Given the description of an element on the screen output the (x, y) to click on. 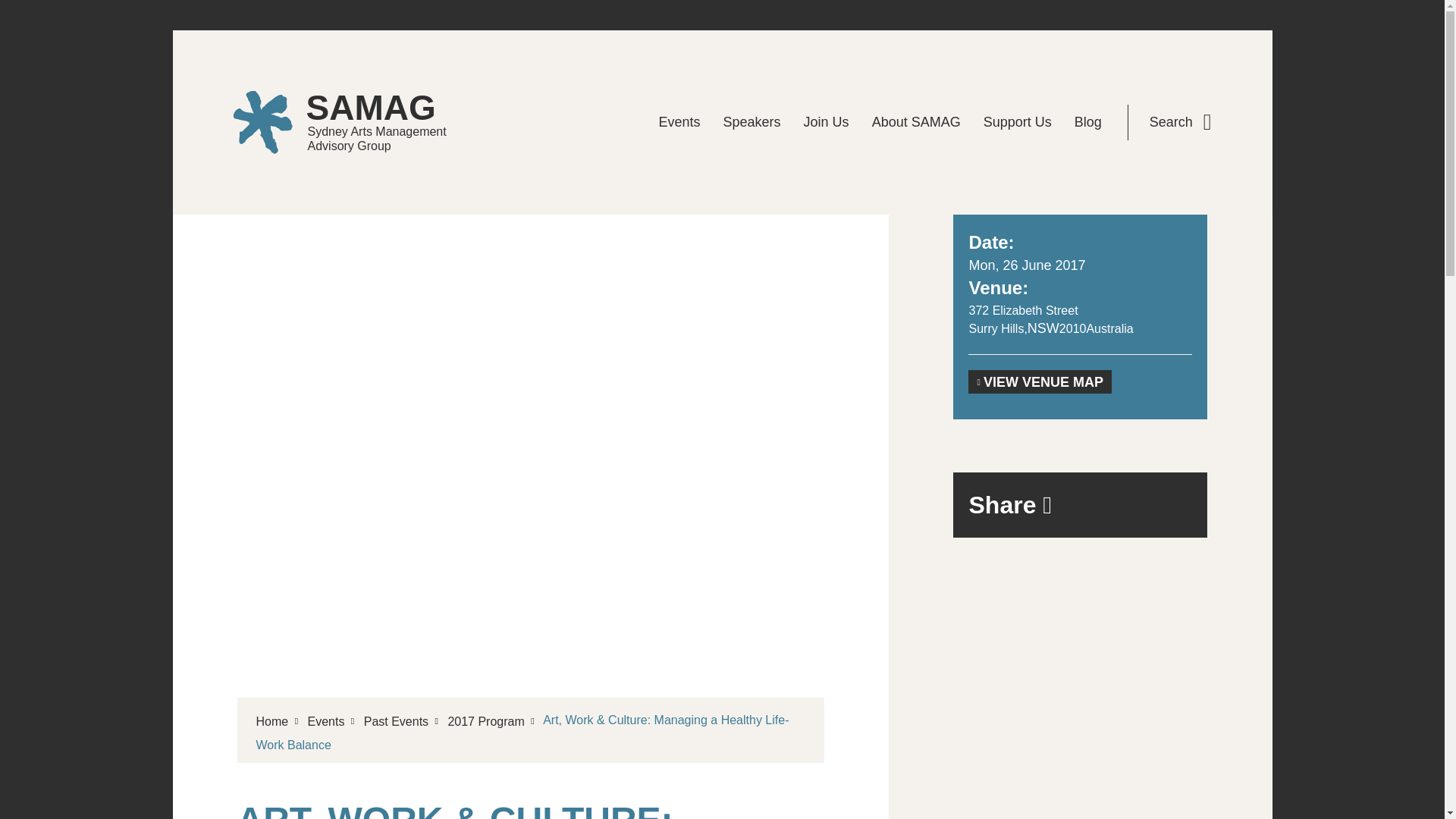
Support Us (1017, 122)
SAMAG (354, 121)
Search (354, 121)
Past Events (1180, 122)
Events (396, 721)
Events (679, 122)
Join Us (325, 721)
2017 Program (825, 122)
About SAMAG (485, 721)
